Given the description of an element on the screen output the (x, y) to click on. 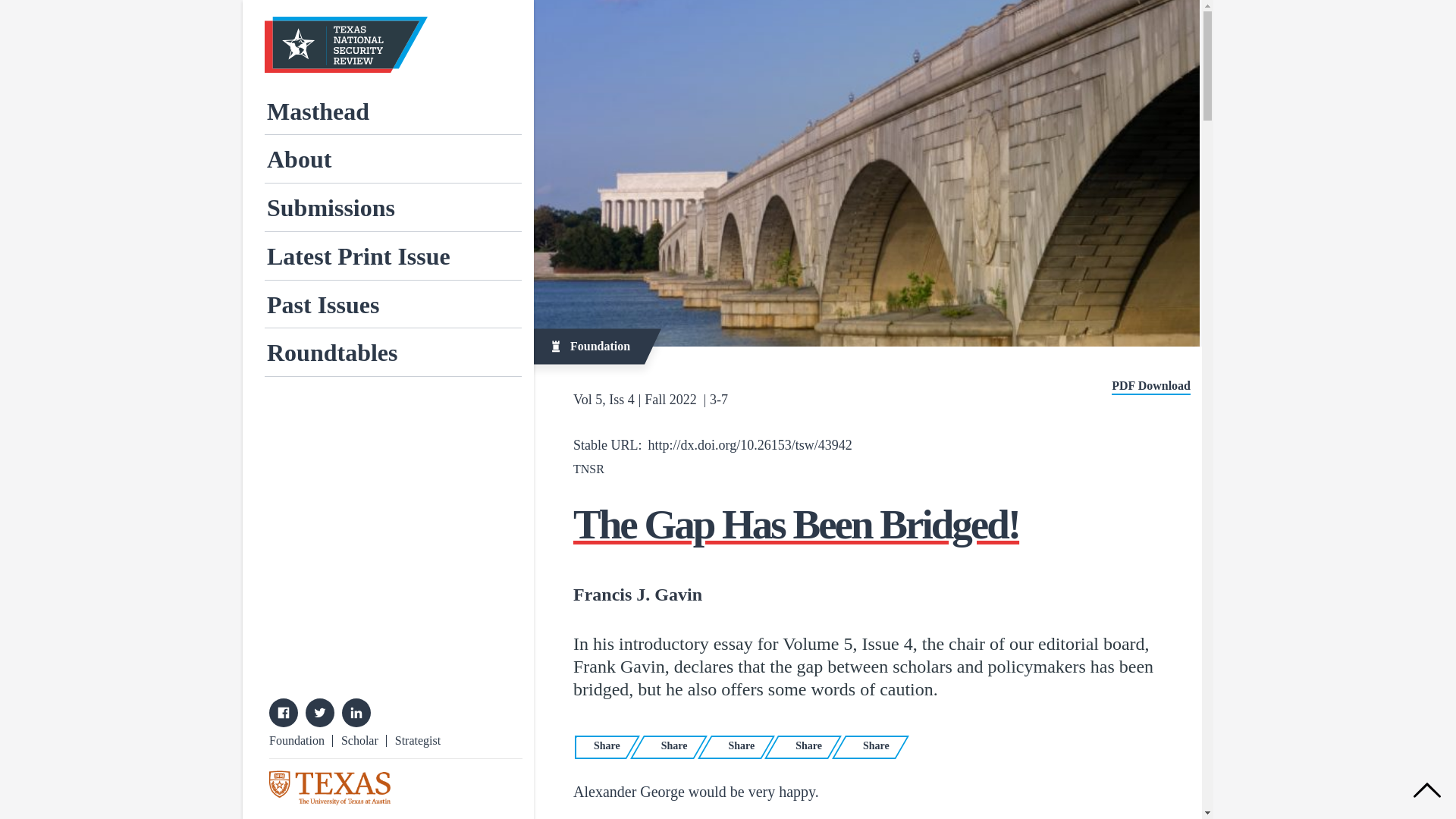
Back to Top (1427, 789)
TNSR (588, 468)
Masthead (392, 110)
Submissions (392, 206)
Foundation (296, 740)
Strategist (417, 740)
Latest Print Issue (392, 255)
Scholar (359, 740)
Francis J. Gavin (637, 591)
Download: PDF Download (1151, 386)
